Given the description of an element on the screen output the (x, y) to click on. 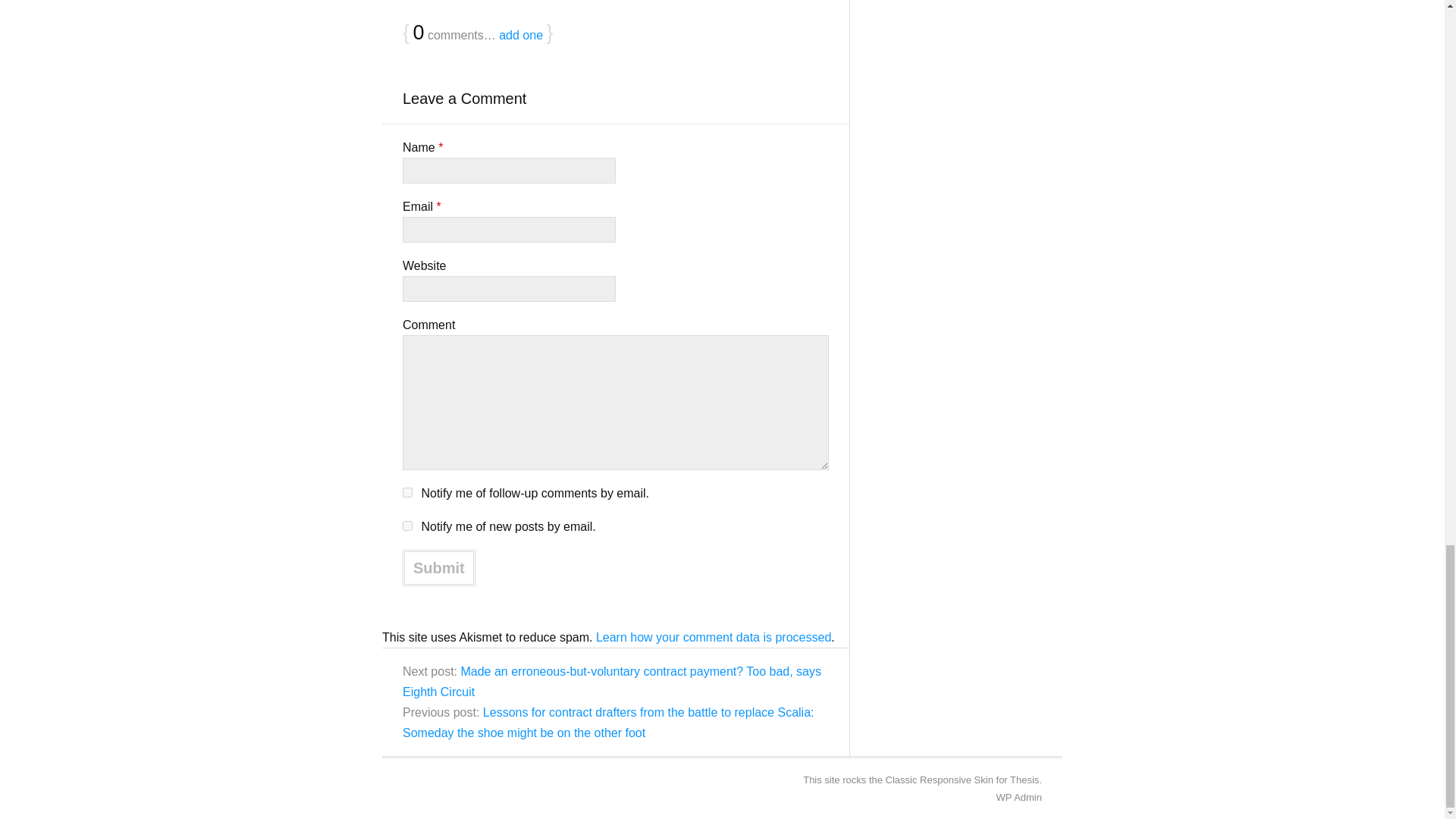
WordPress (1003, 797)
Submit (439, 567)
subscribe (407, 492)
Learn how your comment data is processed (713, 636)
subscribe (407, 525)
Submit (439, 567)
add one (521, 34)
